Given the description of an element on the screen output the (x, y) to click on. 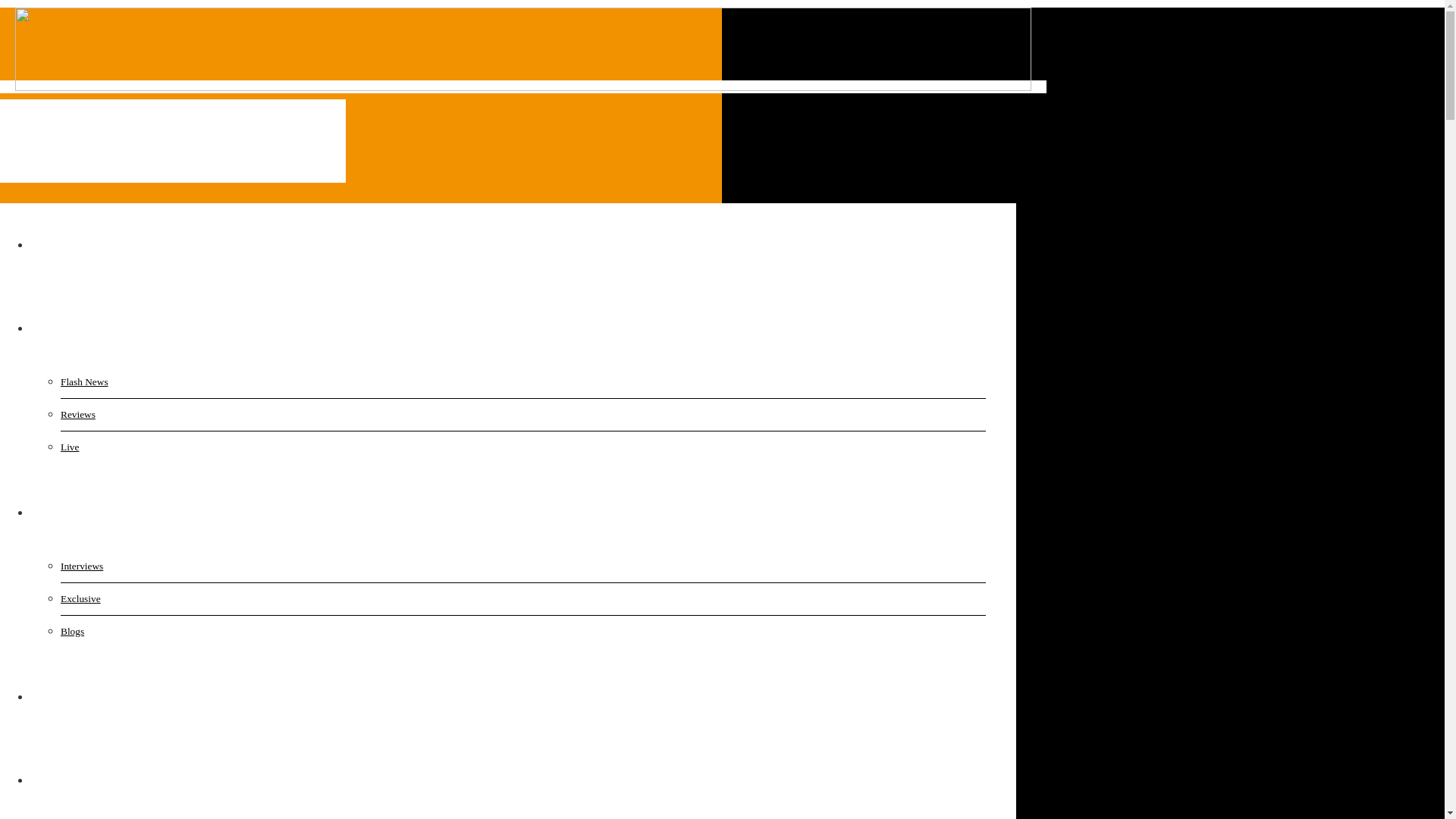
Flash News (136, 382)
Blogs (136, 631)
Exclusive (136, 599)
Interviews (136, 566)
LIFESTYLE (92, 779)
HOME (66, 244)
Reviews (136, 414)
FEATURES (89, 512)
Live (136, 447)
MUSIC (76, 327)
HBLS TV (76, 696)
